Given the description of an element on the screen output the (x, y) to click on. 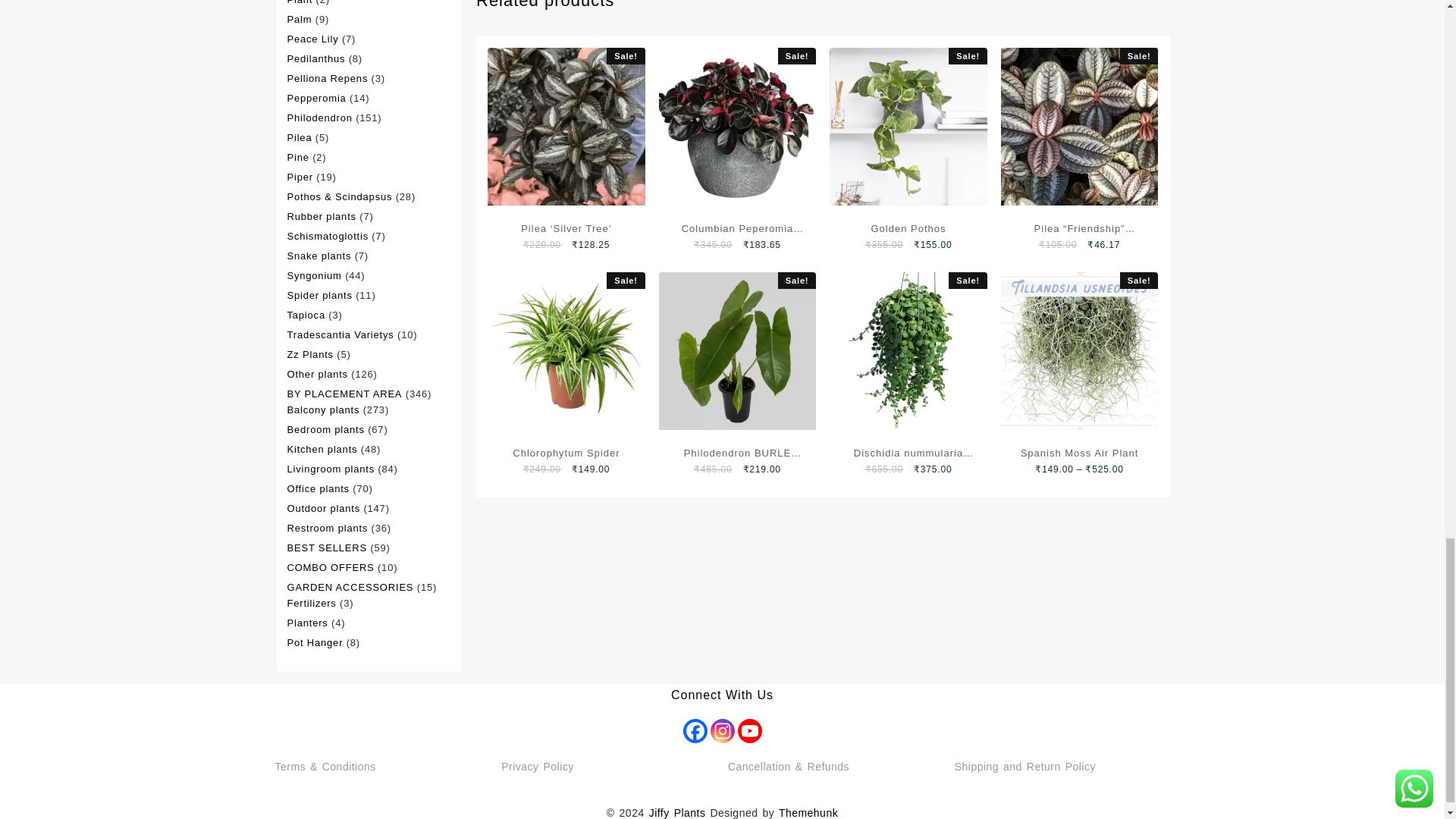
Instagram (721, 730)
Facebook (694, 730)
Youtube Channel (748, 730)
